Given the description of an element on the screen output the (x, y) to click on. 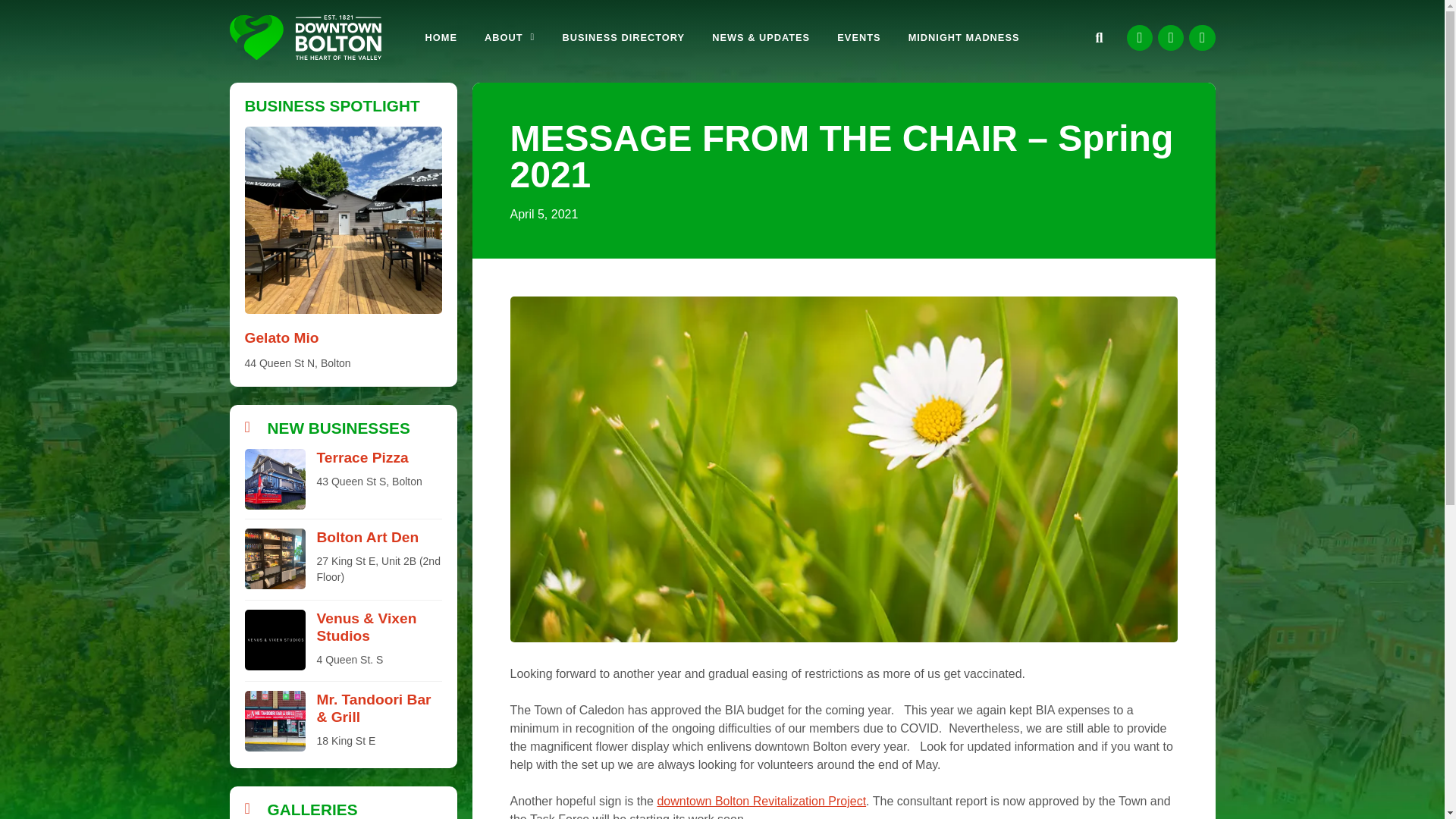
Bolton Art Den 1 (274, 558)
Gelato Mio (281, 337)
Venus Vixen Studios (274, 639)
MIDNIGHT MADNESS (964, 37)
Terrace Pizza (363, 457)
Gelato Mio e1718732814381 (342, 219)
Mr Tandoori (274, 721)
EVENTS (858, 37)
BUSINESS DIRECTORY (623, 37)
Address (379, 569)
